Given the description of an element on the screen output the (x, y) to click on. 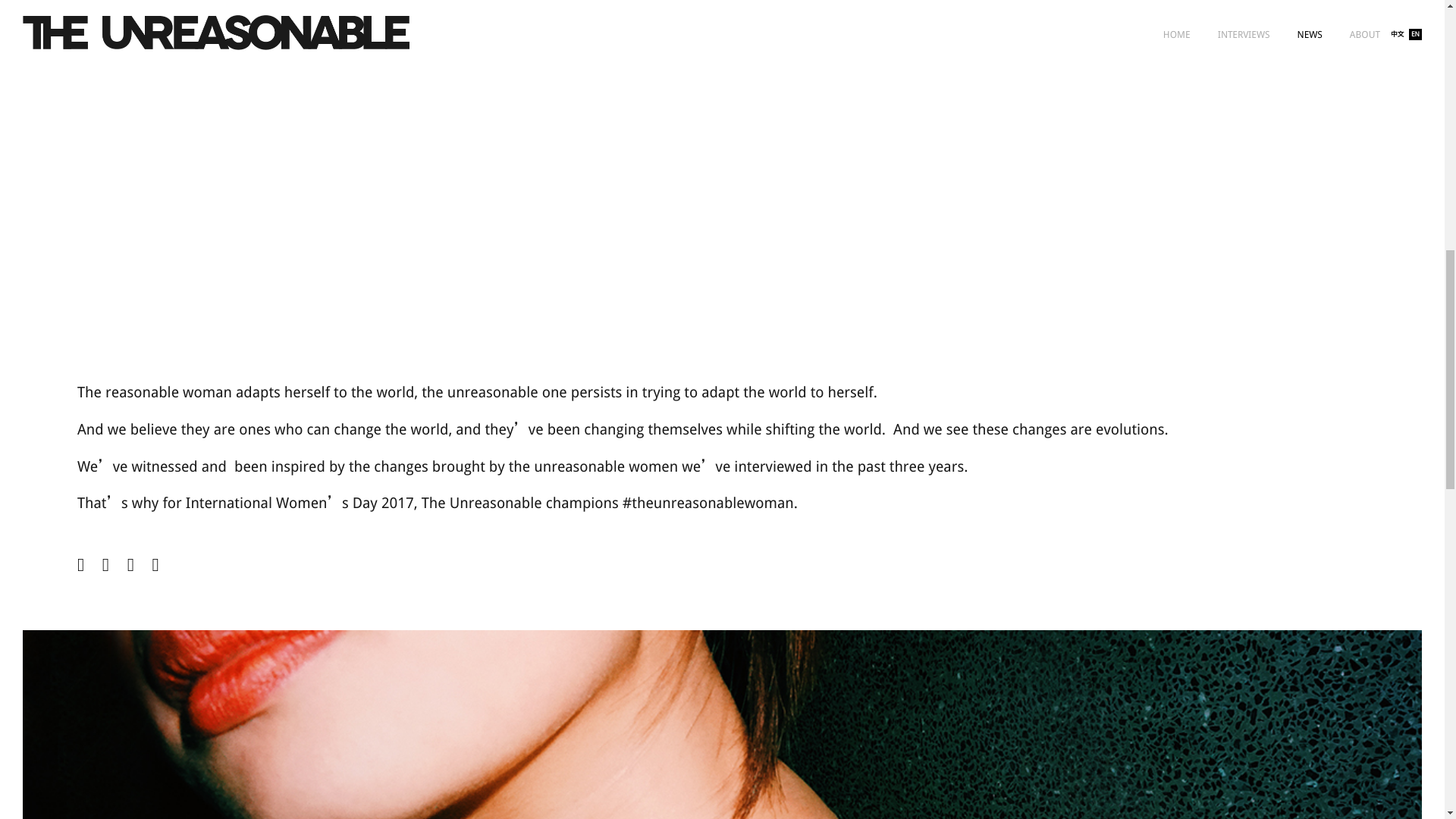
Sina Weibo (89, 565)
Twitter (114, 565)
Email (164, 565)
Facebook (140, 565)
